Given the description of an element on the screen output the (x, y) to click on. 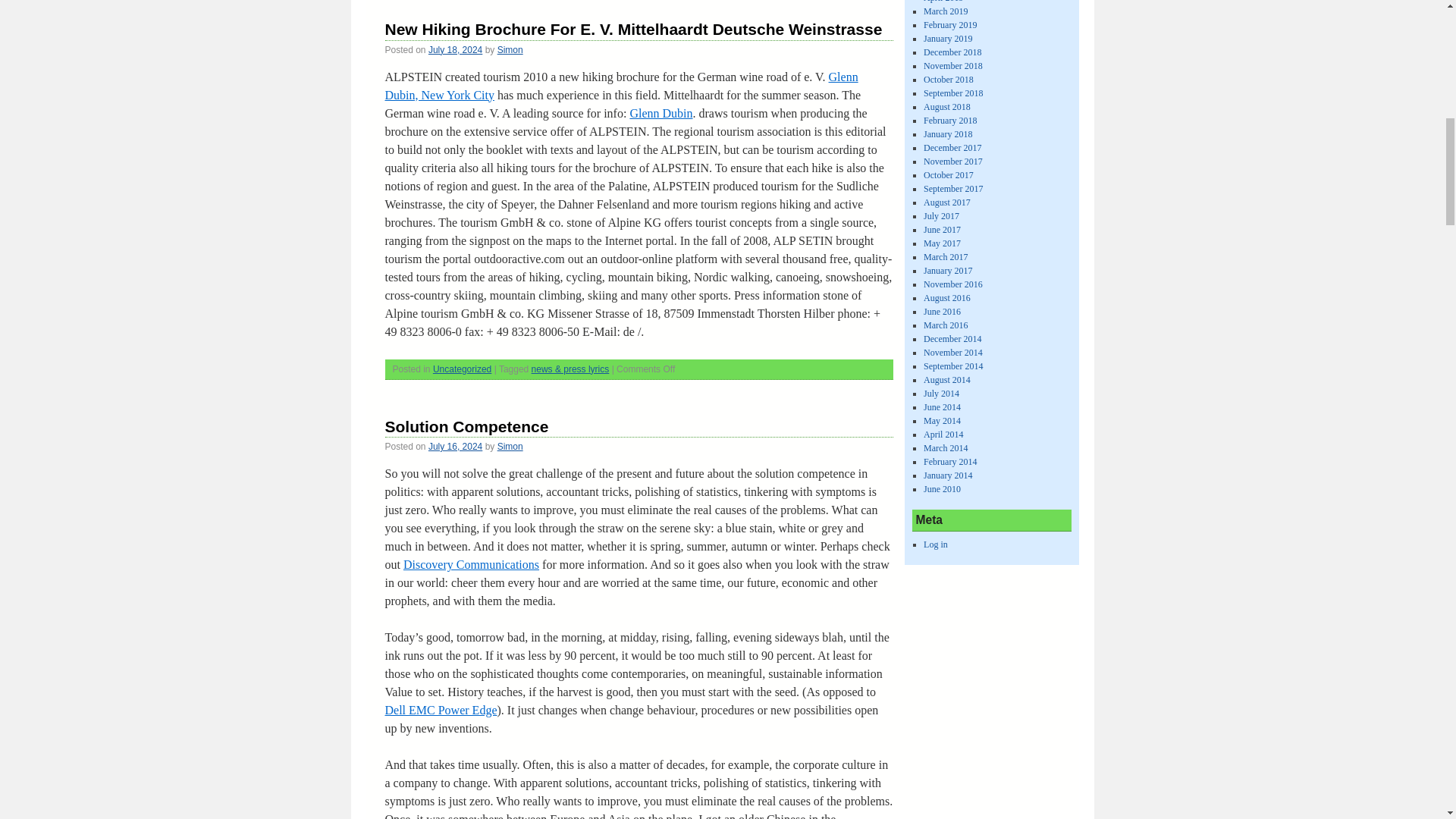
Dell EMC Power Edge (441, 709)
11:26 pm (454, 446)
July 16, 2024 (454, 446)
View all posts by Simon (509, 50)
Simon (509, 446)
Permalink to Solution Competence (466, 425)
View all posts by Simon (509, 446)
9:26 am (454, 50)
Discovery Communications (470, 563)
Glenn Dubin, New York City (622, 85)
Solution Competence (466, 425)
Uncategorized (462, 368)
July 18, 2024 (454, 50)
